Given the description of an element on the screen output the (x, y) to click on. 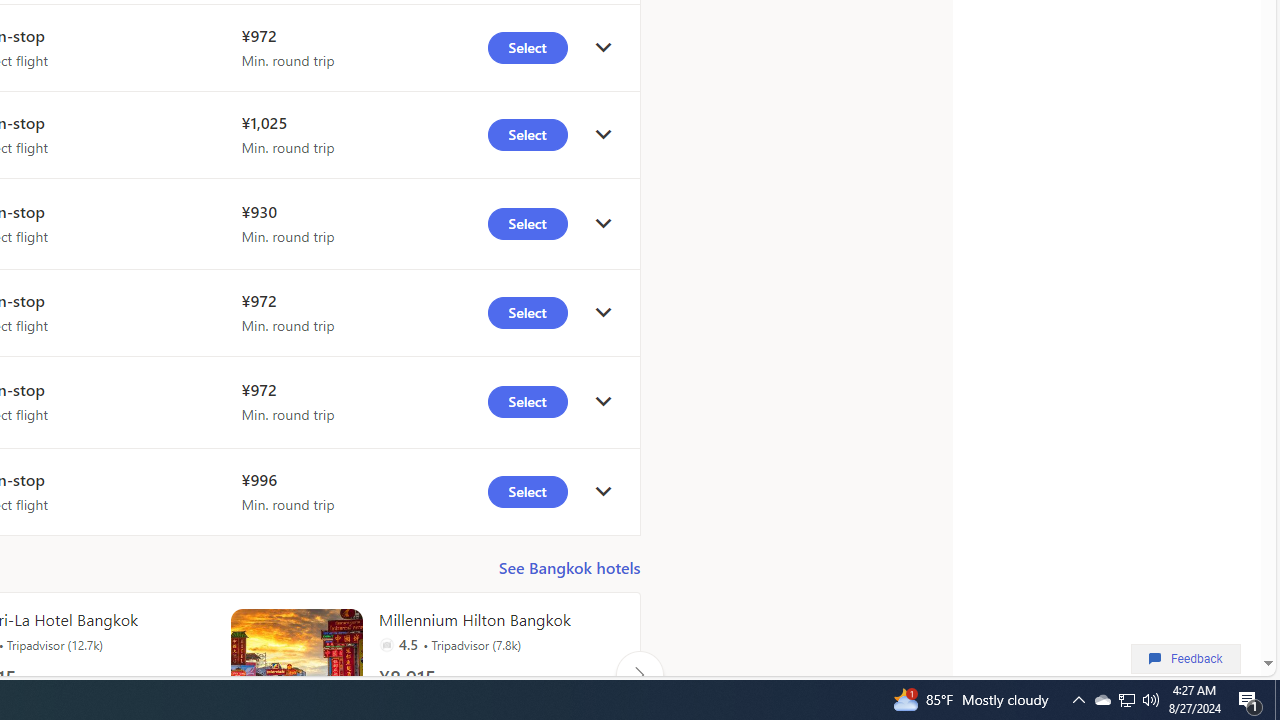
click to get details (603, 491)
Click to scroll right (639, 674)
Tripadvisor (386, 644)
